Given the description of an element on the screen output the (x, y) to click on. 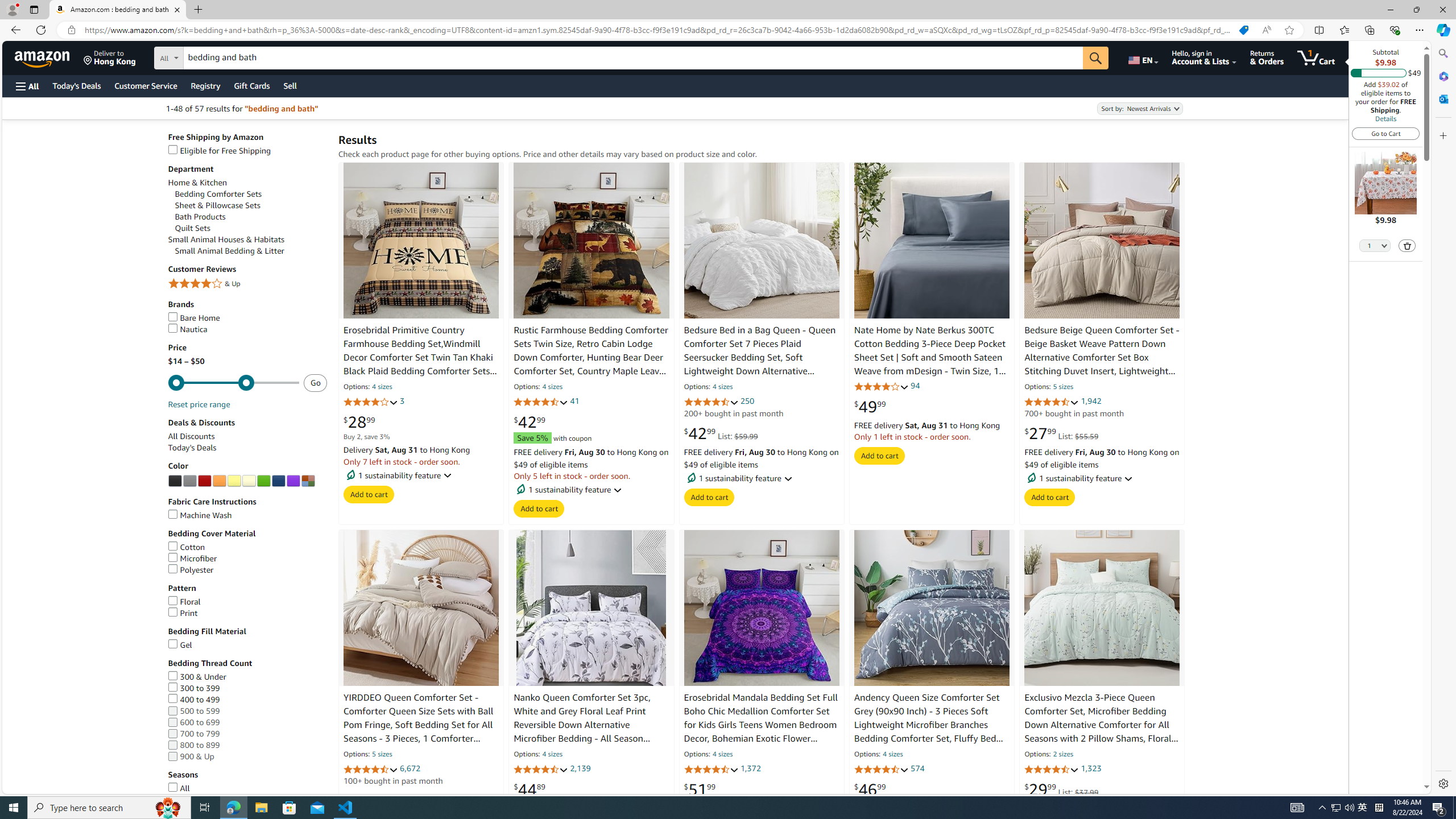
900 & Up (247, 756)
Nautica (247, 329)
800 to 899 (247, 745)
Choose a language for shopping. (1142, 57)
$28.99 (359, 421)
Customer Service (145, 85)
Sheet & Pillowcase Sets (250, 205)
300 & Under (247, 677)
Black (174, 481)
300 to 399 (247, 688)
$44.89 (529, 789)
1,323 (1091, 768)
